Given the description of an element on the screen output the (x, y) to click on. 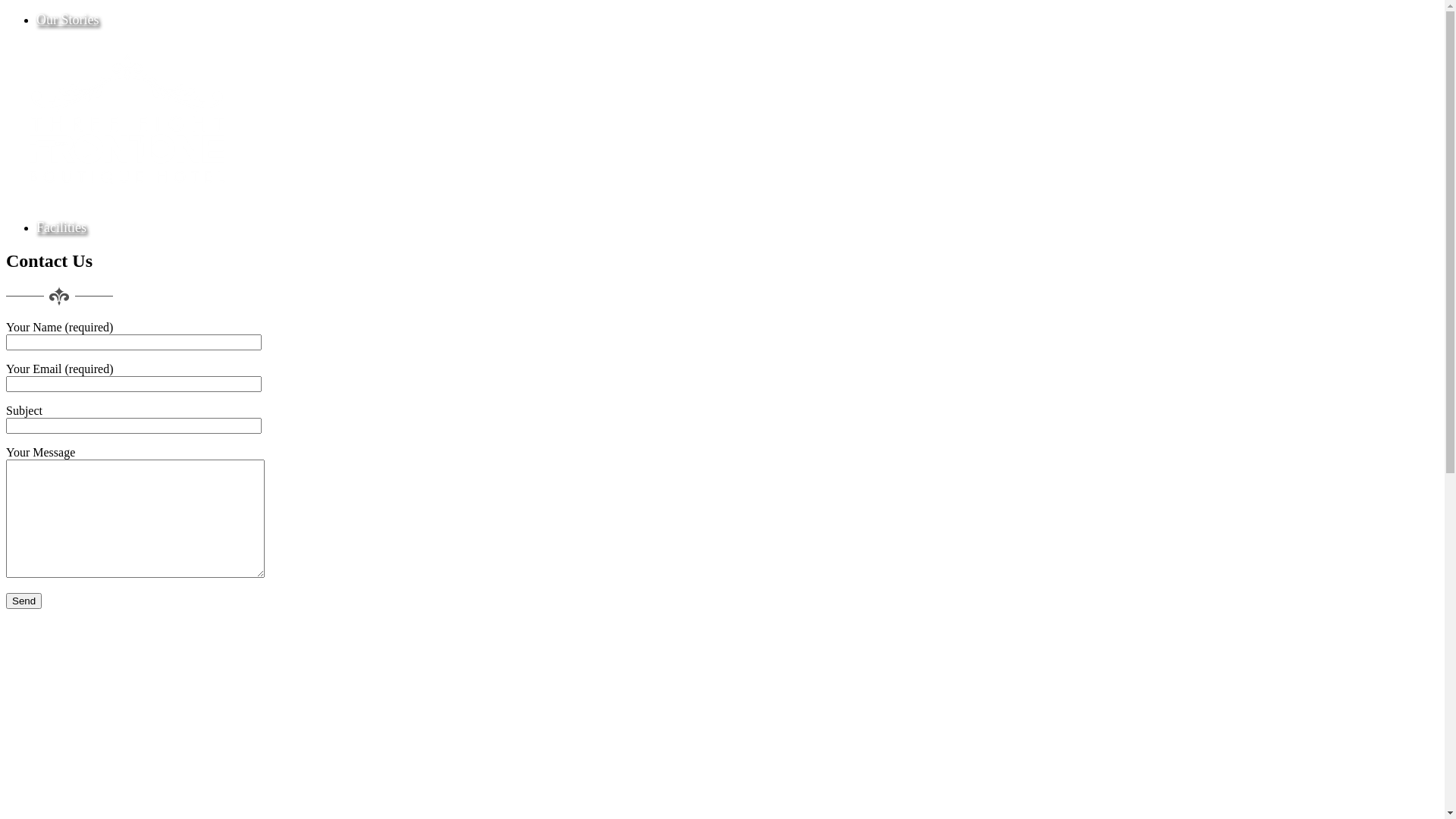
Our Stories Element type: text (67, 19)
Facilities Element type: text (61, 227)
Send Element type: text (23, 600)
